Given the description of an element on the screen output the (x, y) to click on. 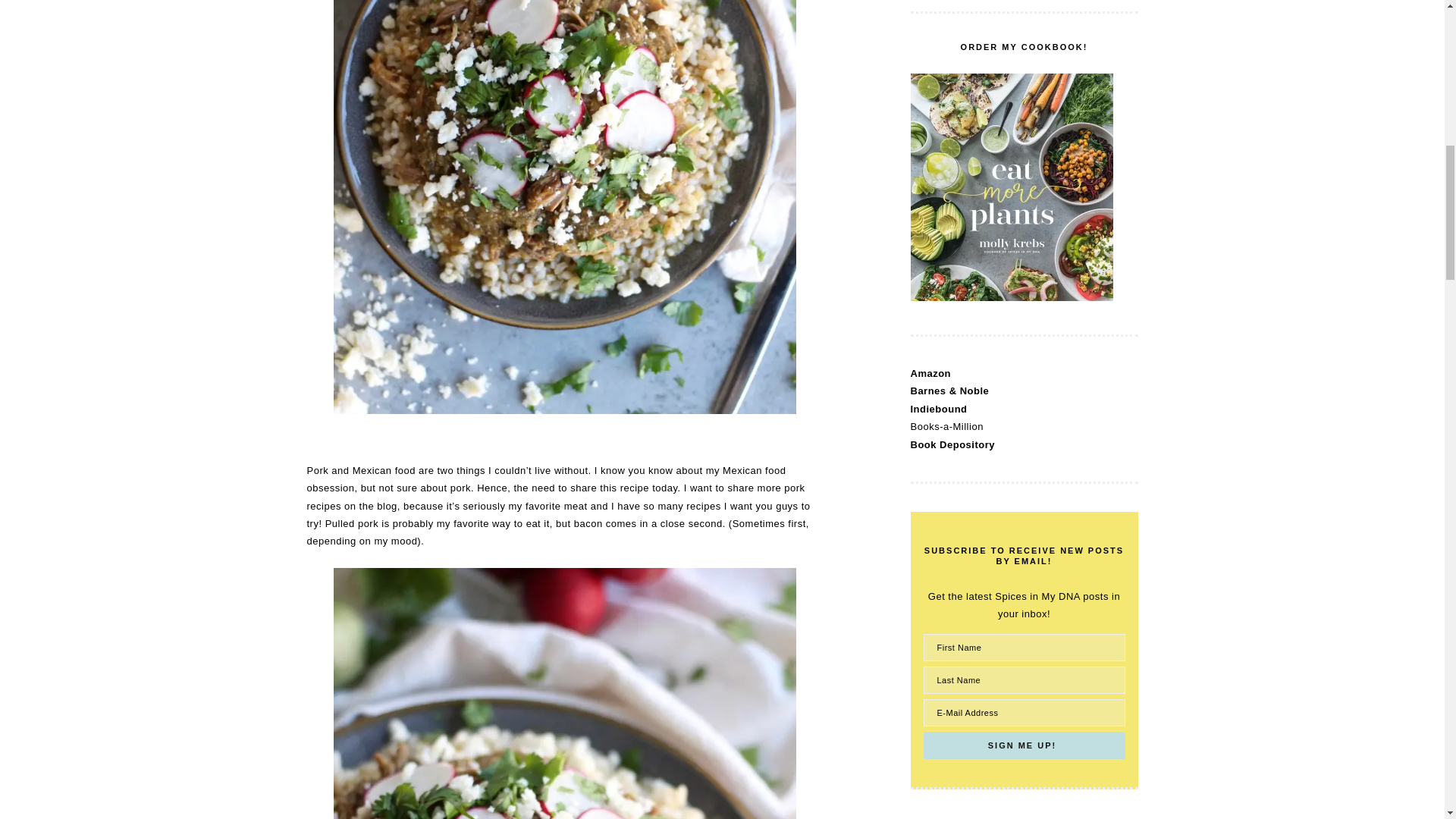
Sign me up!  (1024, 745)
